Given the description of an element on the screen output the (x, y) to click on. 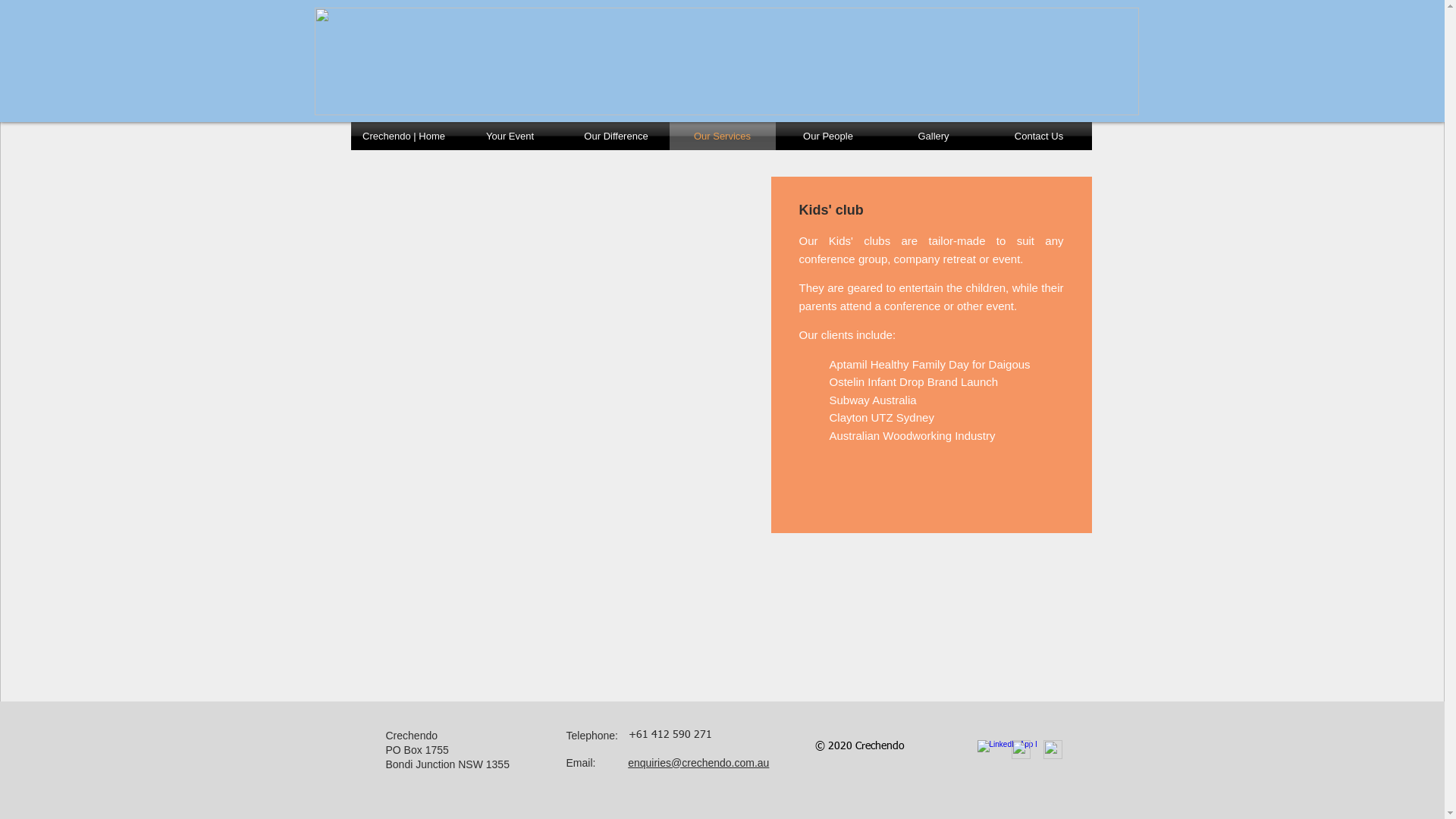
enquiries@crechendo.com.au Element type: text (697, 762)
Our Difference Element type: text (615, 136)
Your Event Element type: text (509, 136)
Our People Element type: text (827, 136)
Contact Us Element type: text (1038, 136)
Crechendo | Home Element type: text (403, 136)
Gallery Element type: text (933, 136)
Our Services Element type: text (721, 136)
